Given the description of an element on the screen output the (x, y) to click on. 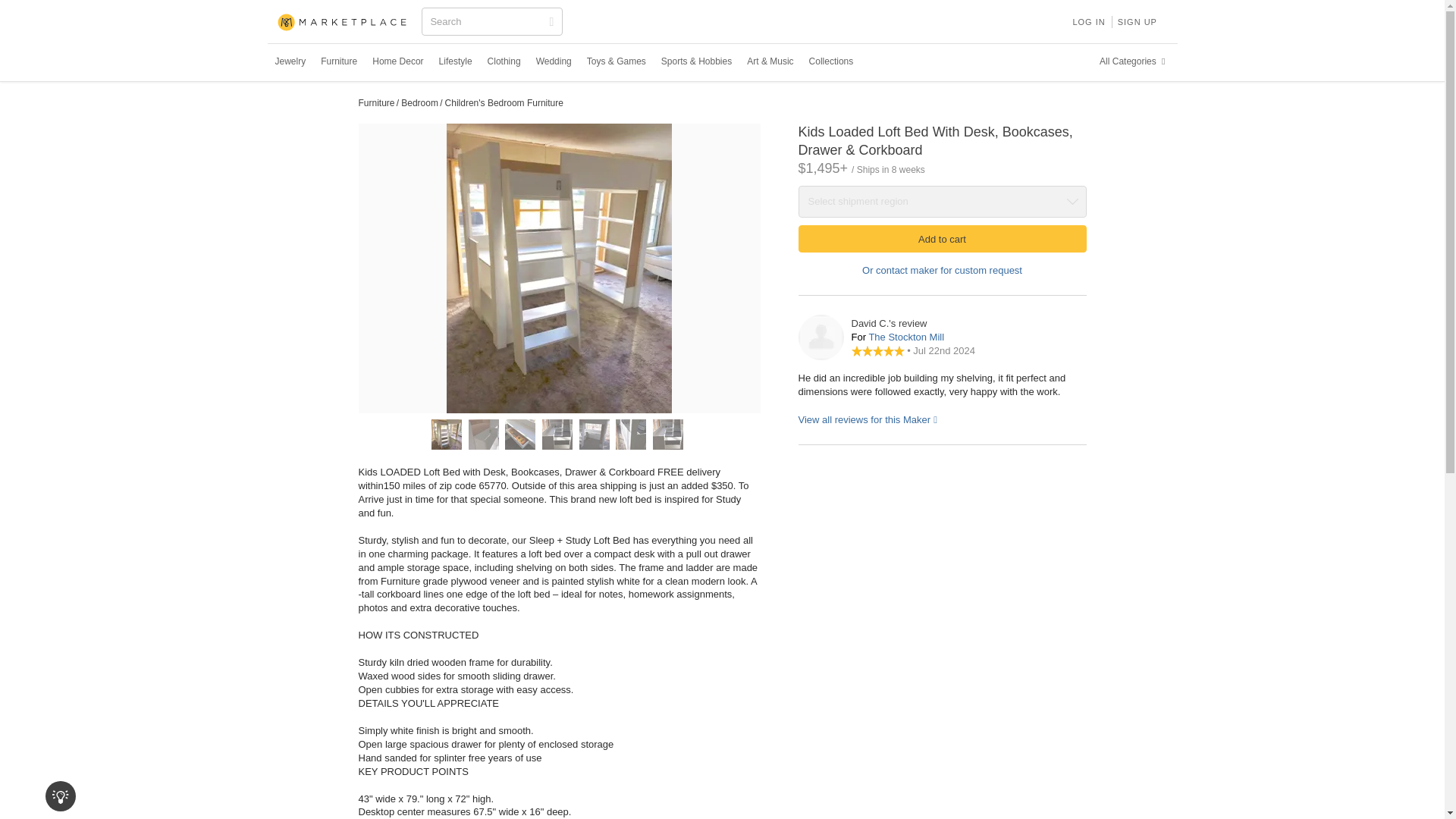
Log in to CustomMade (1087, 21)
CUSTOMMADE (342, 22)
LOG IN (1087, 21)
Jewelry (289, 61)
SIGN UP (1137, 21)
All Categories (1134, 61)
Custom Jewelry (289, 61)
